Given the description of an element on the screen output the (x, y) to click on. 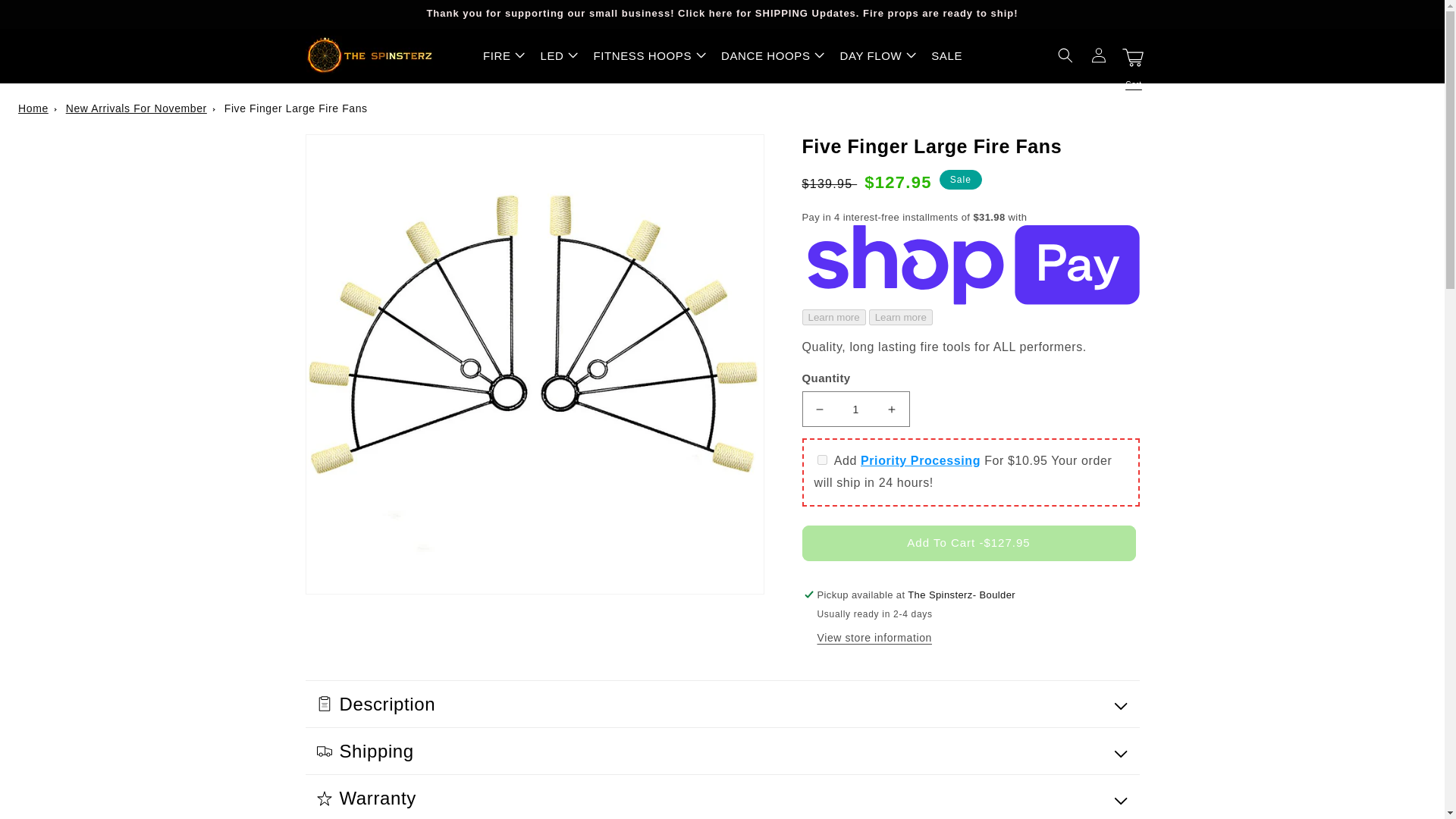
30581456601158 (821, 460)
1 (856, 408)
Skip to content (45, 17)
